Given the description of an element on the screen output the (x, y) to click on. 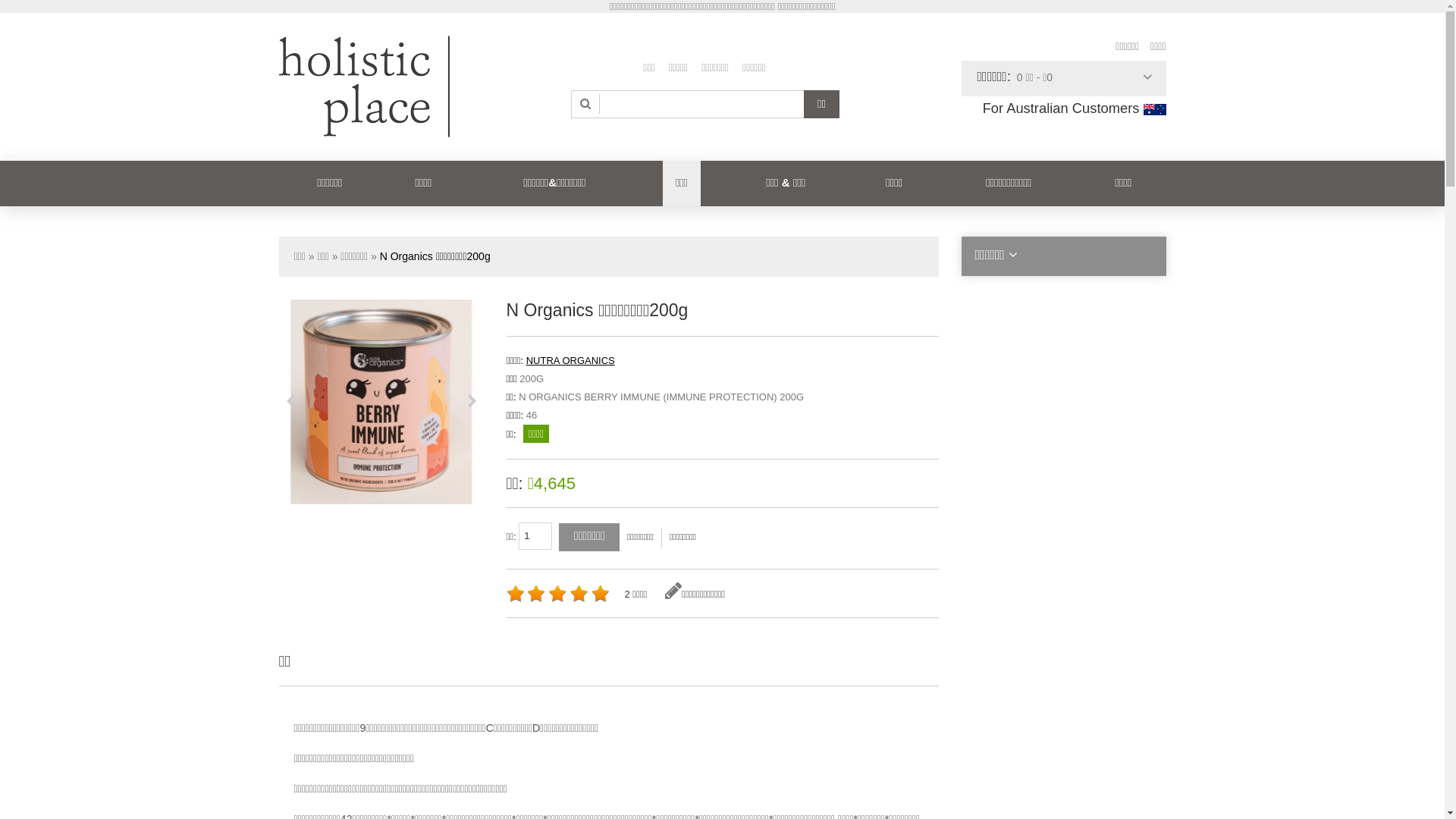
NUTRA ORGANICS Element type: text (570, 360)
Holistic Place Element type: hover (364, 86)
For Australian Customers Element type: text (1074, 108)
